Given the description of an element on the screen output the (x, y) to click on. 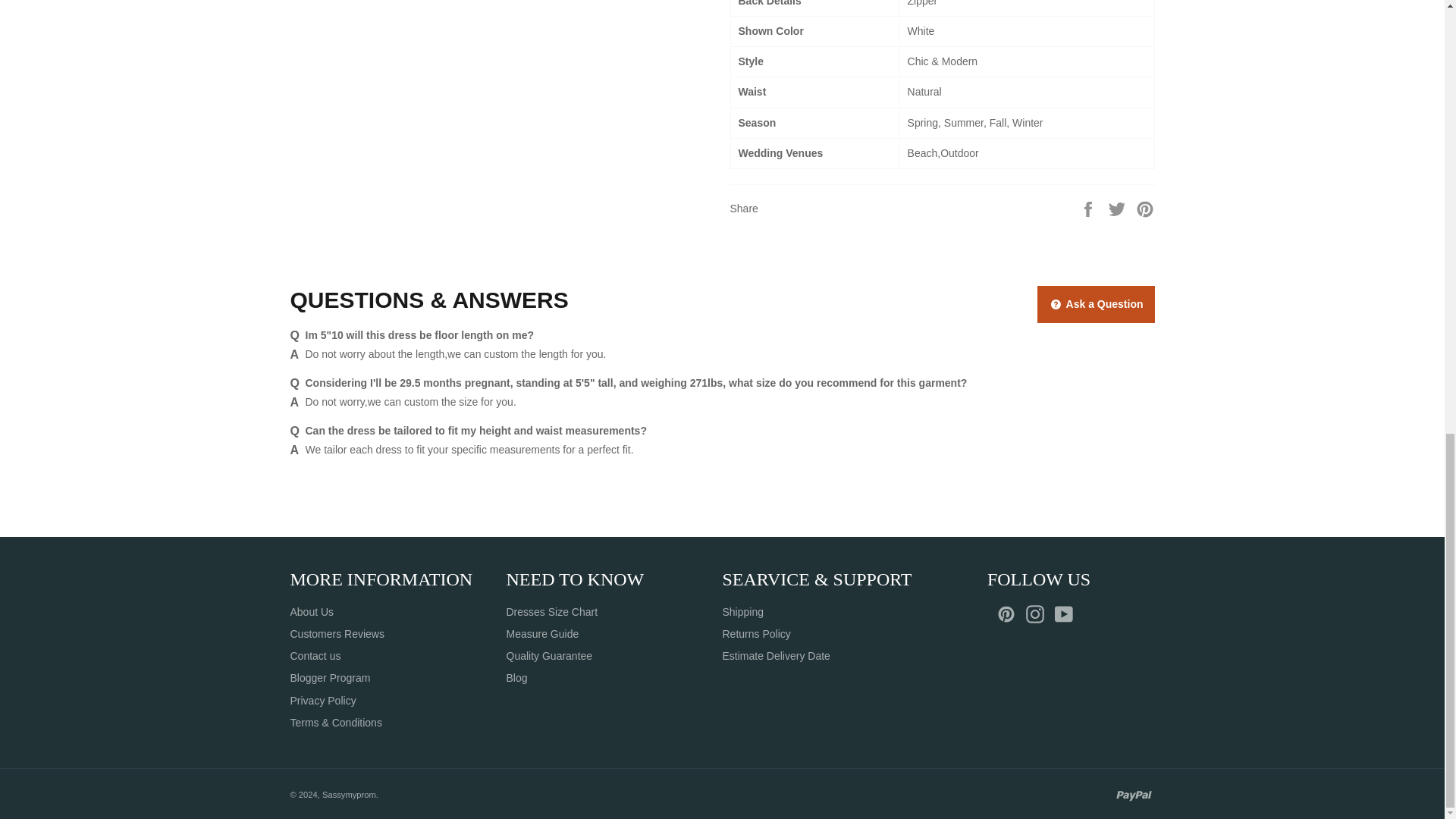
Sassymyprom on Instagram (1038, 614)
Sassymyprom on Pinterest (1010, 614)
Tweet on Twitter (1118, 208)
Sassymyprom on YouTube (1067, 614)
Share on Facebook (1089, 208)
Pin on Pinterest (1144, 208)
